Given the description of an element on the screen output the (x, y) to click on. 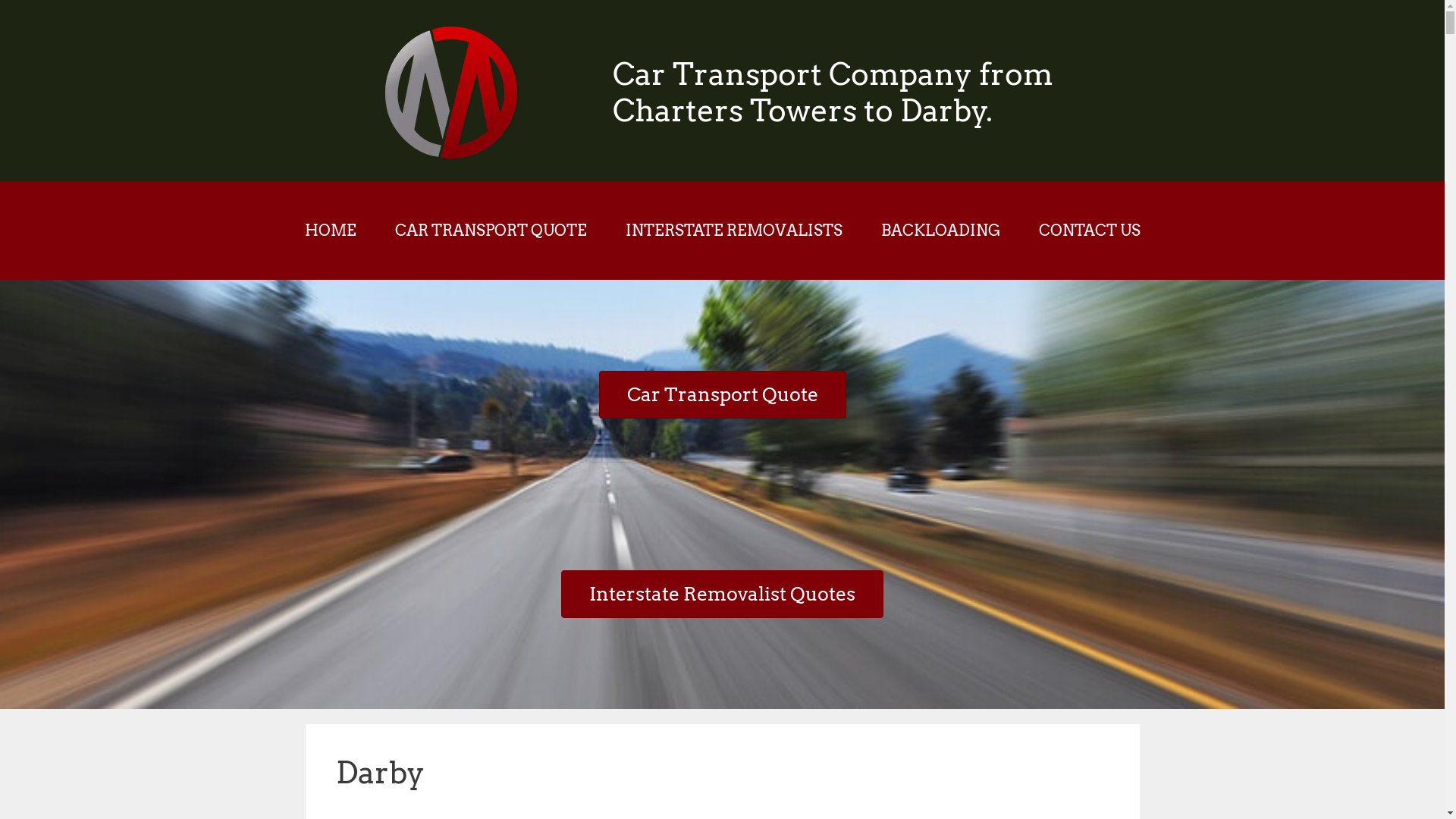
INTERSTATE REMOVALISTS Element type: text (733, 230)
moving again logo Element type: hover (451, 153)
HOME Element type: text (329, 230)
CAR TRANSPORT QUOTE Element type: text (490, 230)
Car Transport Quote Element type: text (722, 394)
Interstate Removalist Quotes Element type: text (722, 594)
BACKLOADING Element type: text (939, 230)
CONTACT US Element type: text (1088, 230)
